Given the description of an element on the screen output the (x, y) to click on. 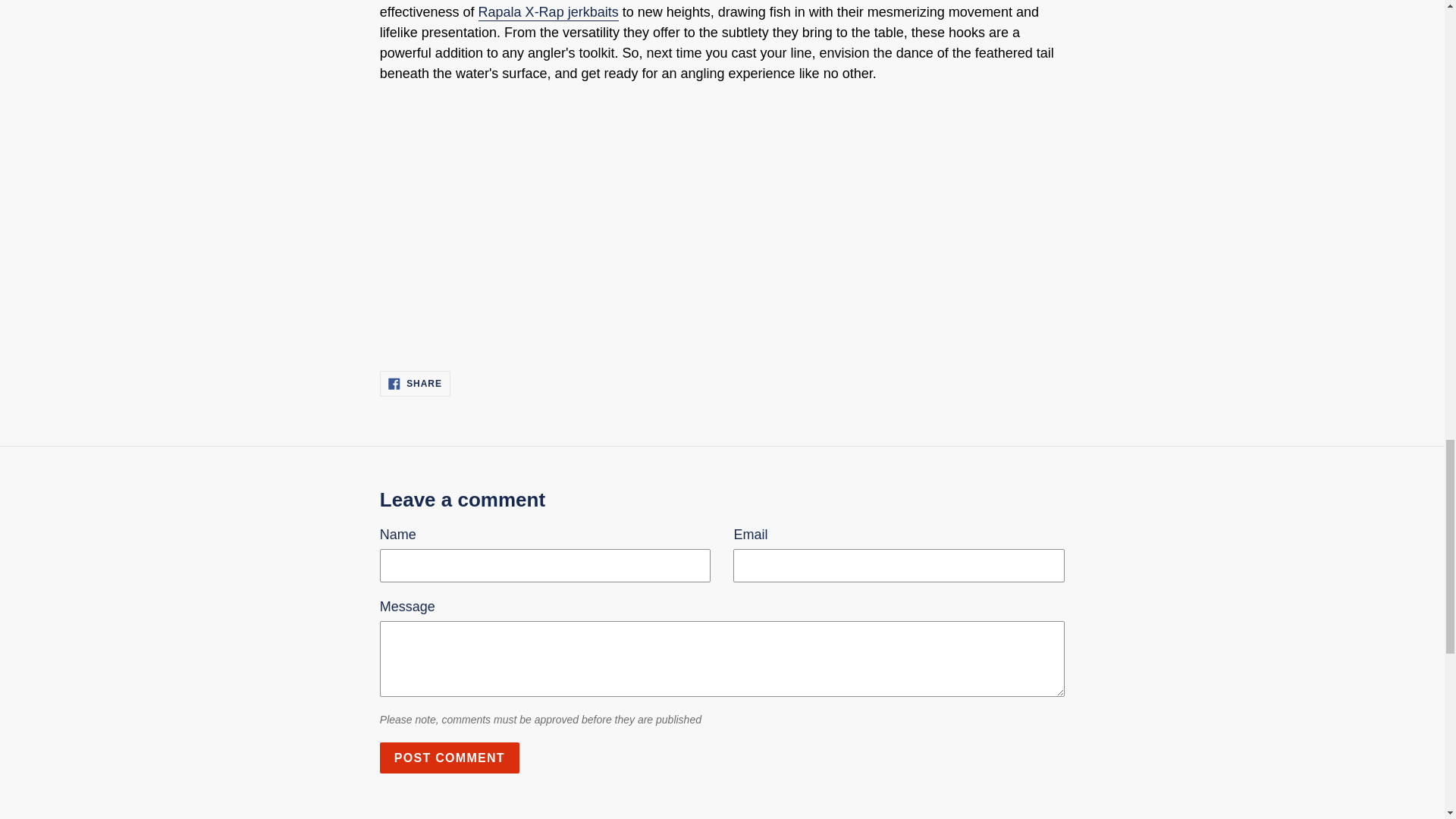
YouTube video player (592, 218)
Post comment (449, 757)
rapala x rap jerk bait (548, 12)
